Given the description of an element on the screen output the (x, y) to click on. 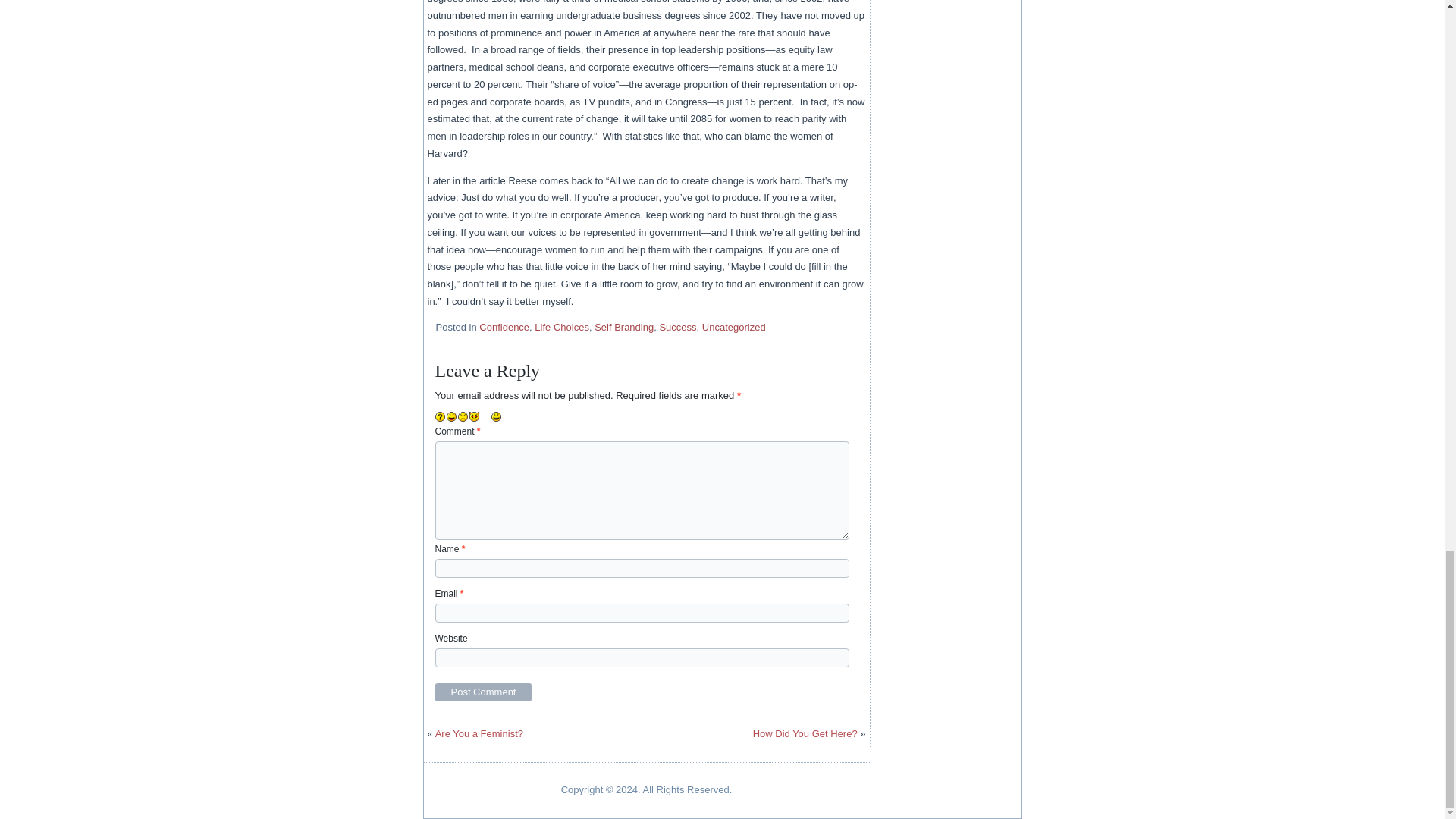
Self Branding (623, 326)
Are You a Feminist? (478, 733)
How Did You Get Here? (804, 733)
Success (677, 326)
How Did You Get Here? (804, 733)
Uncategorized (733, 326)
Post Comment (483, 692)
Life Choices (561, 326)
Are You a Feminist? (478, 733)
Confidence (504, 326)
Post Comment (483, 692)
